Given the description of an element on the screen output the (x, y) to click on. 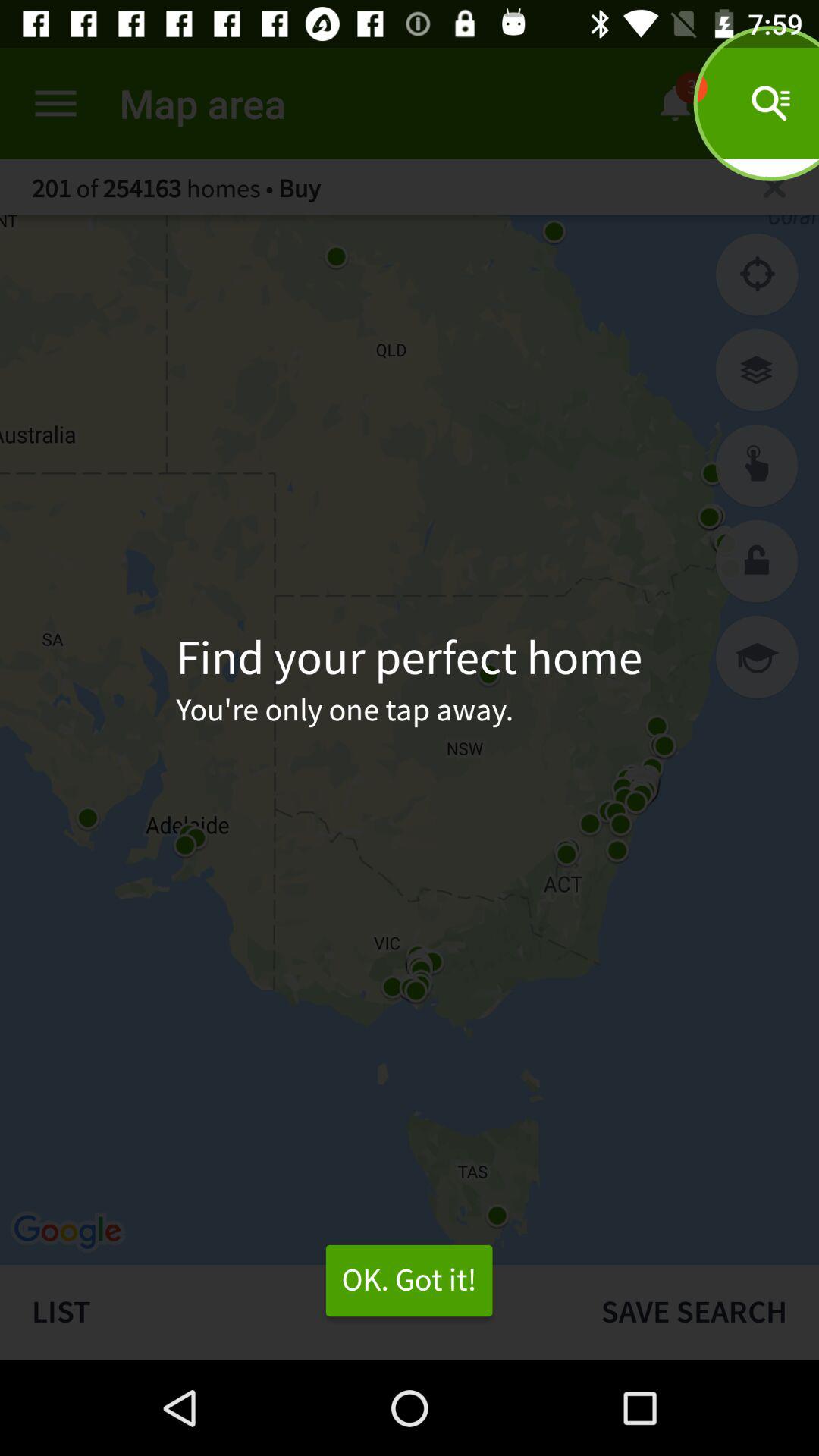
close the page (774, 186)
